Given the description of an element on the screen output the (x, y) to click on. 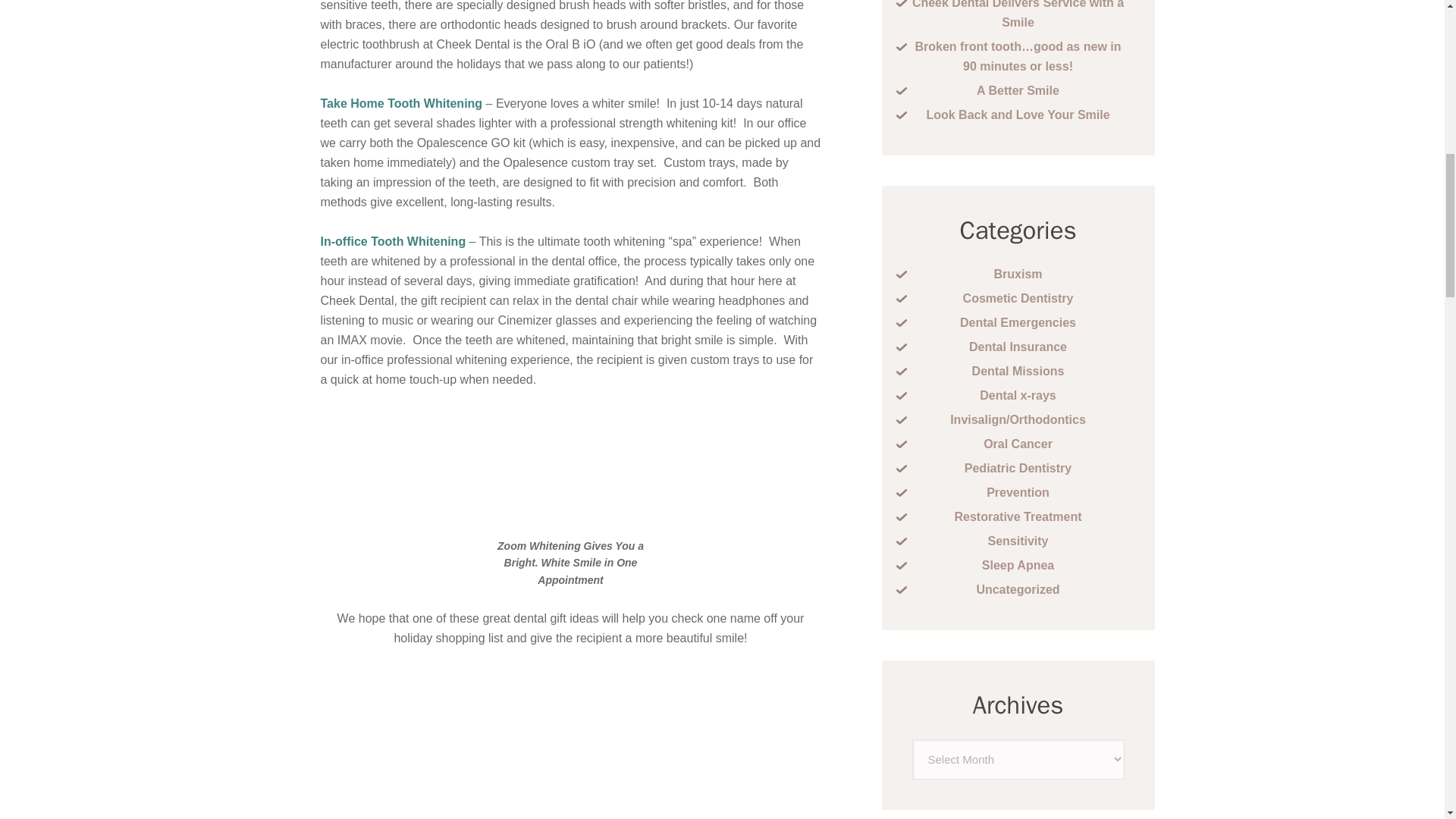
Cheek Dental Delivers Service with a Smile (1018, 14)
Dental Missions (1018, 370)
Cosmetic Dentistry (1018, 297)
Dental Emergencies (1017, 322)
Bruxism (1017, 273)
Take Home Tooth Whitening (400, 103)
Dental Insurance (1018, 346)
A Better Smile (1017, 90)
Look Back and Love Your Smile (1017, 114)
In-office Tooth Whitening (392, 241)
